Given the description of an element on the screen output the (x, y) to click on. 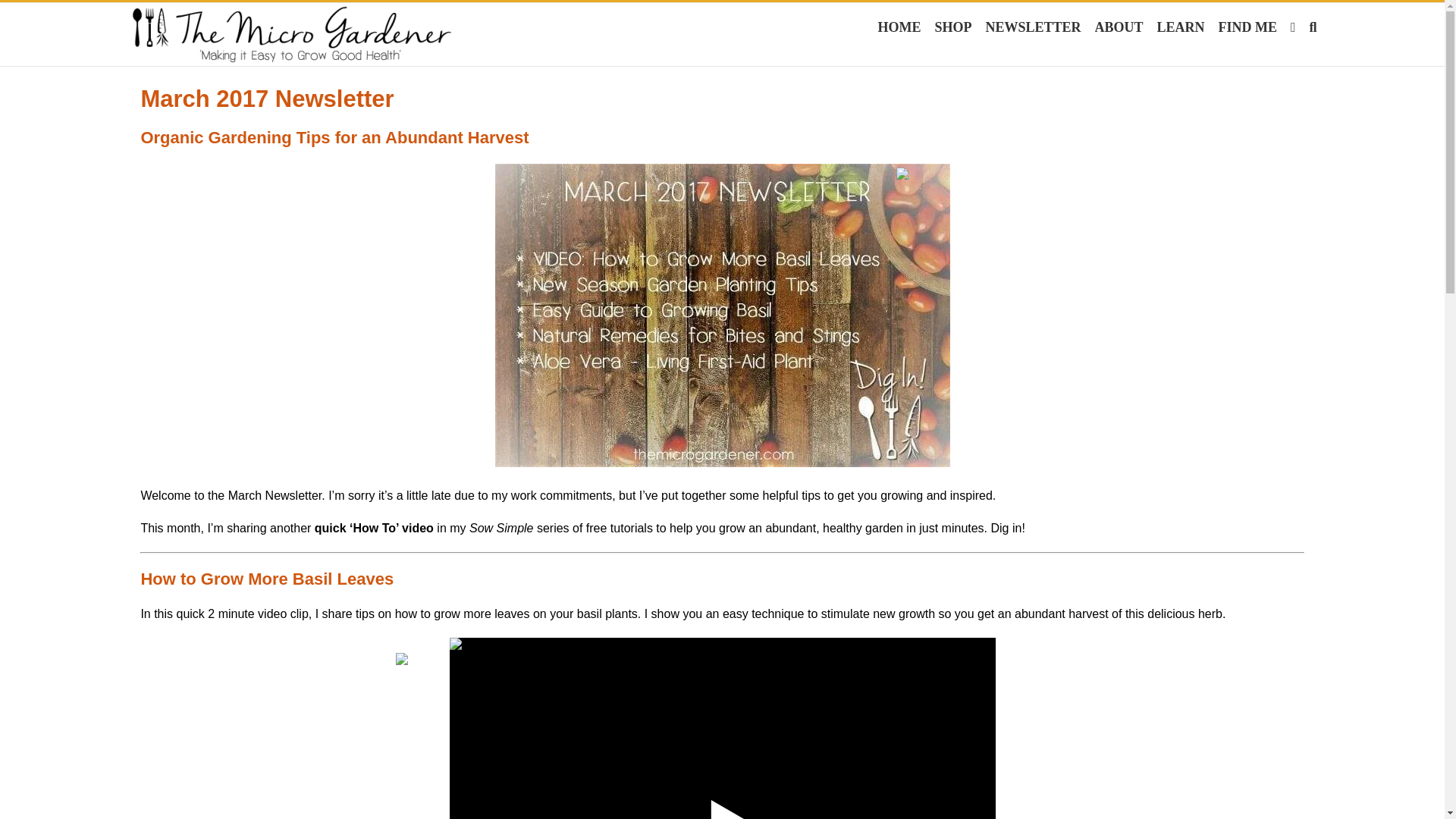
FIND ME (1248, 24)
LEARN (1181, 24)
HOME (898, 24)
NEWSLETTER (1032, 24)
ABOUT (1118, 24)
